Given the description of an element on the screen output the (x, y) to click on. 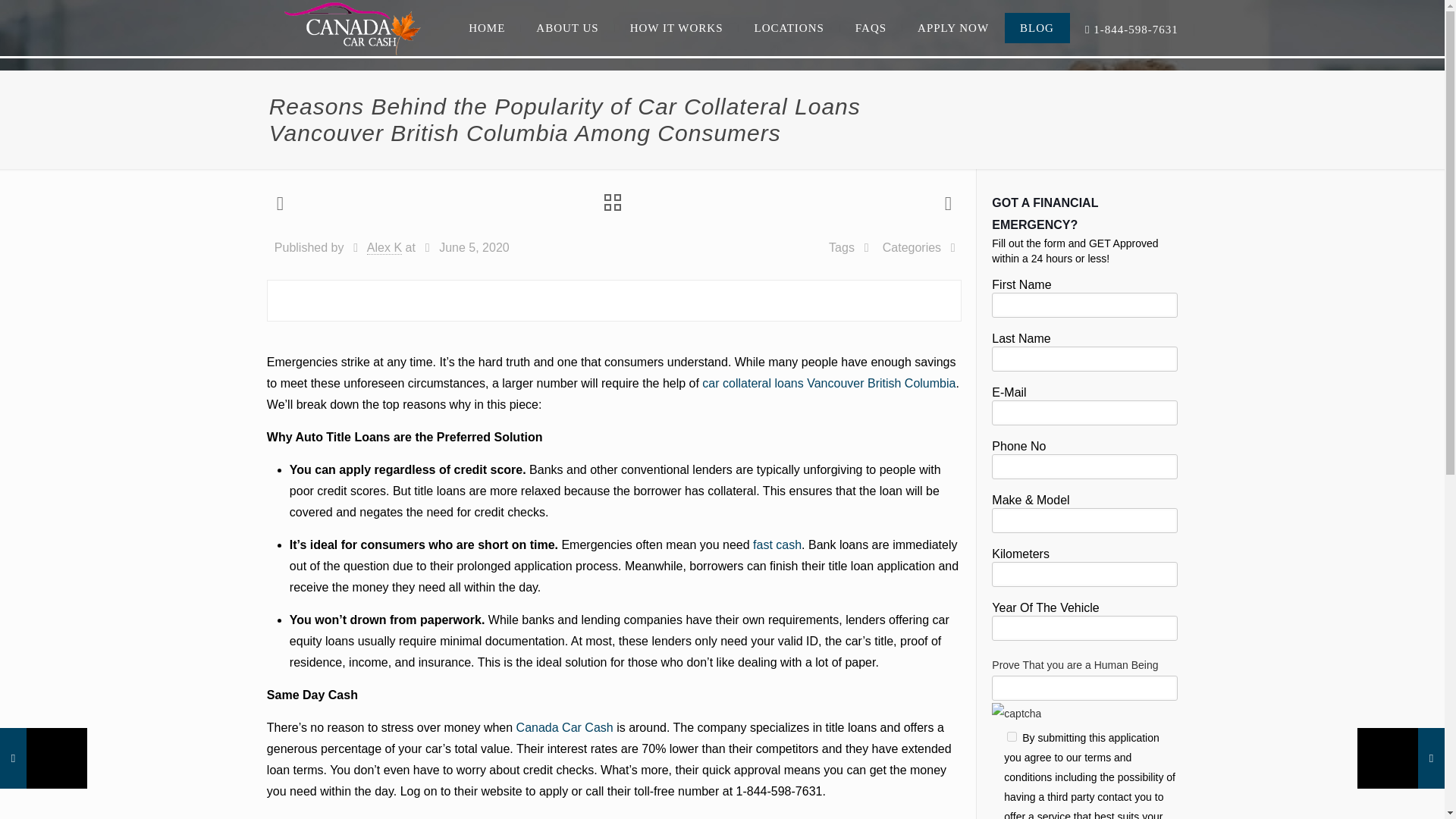
APPLY NOW (953, 28)
HOW IT WORKS (676, 28)
fast cash (777, 544)
Canada Car Cash (564, 727)
car collateral loans Vancouver British Columbia (828, 382)
BLOG (1037, 28)
LOCATIONS (789, 28)
Canada Car Cash (352, 28)
HOME (486, 28)
1 (1011, 737)
FAQS (871, 28)
Alex K (383, 247)
ABOUT US (567, 28)
1-844-598-7631 (1131, 29)
